Given the description of an element on the screen output the (x, y) to click on. 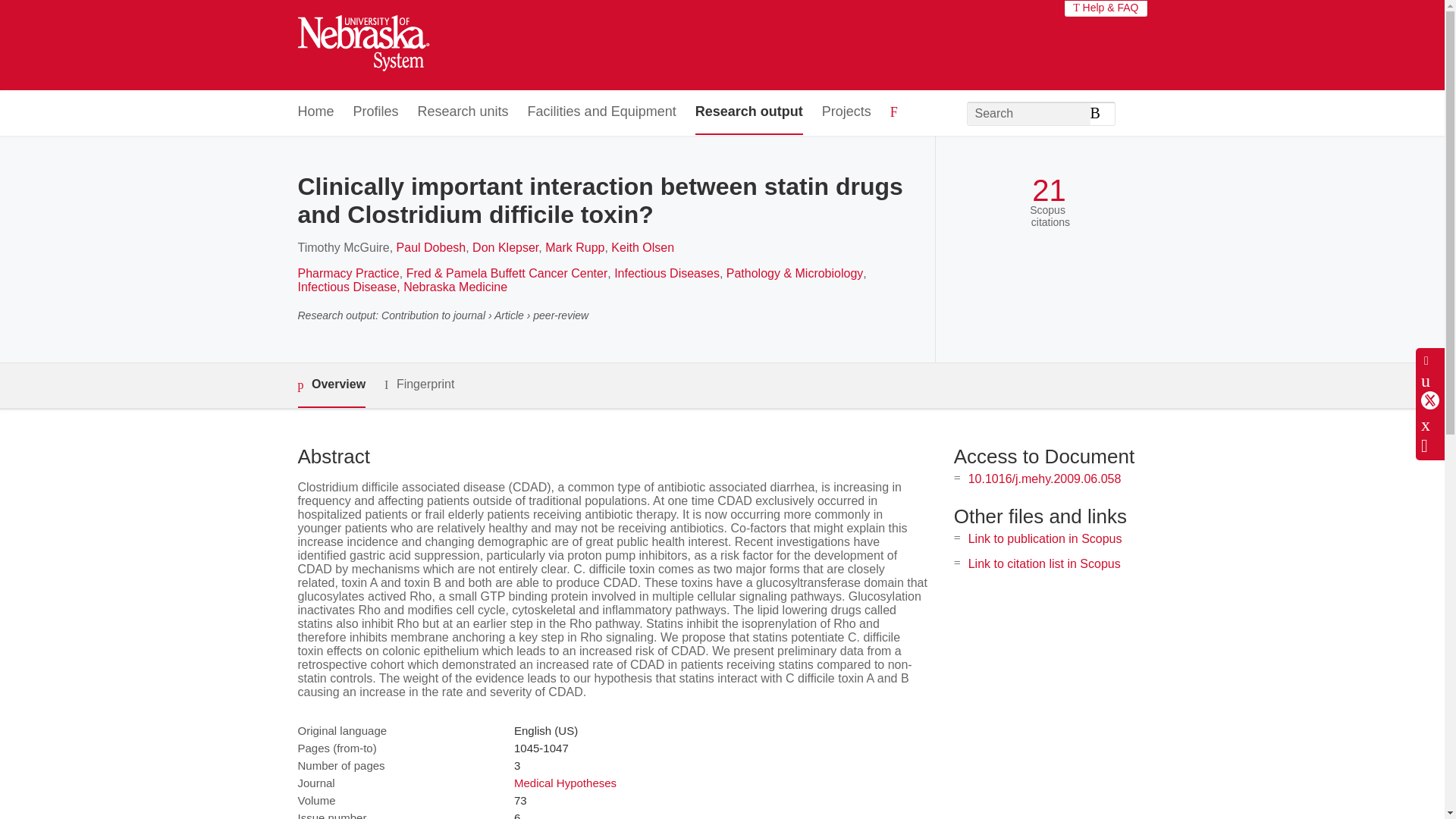
Infectious Disease, Nebraska Medicine (401, 286)
Infectious Diseases (666, 273)
Facilities and Equipment (602, 112)
Research output (749, 112)
Pharmacy Practice (347, 273)
Don Klepser (504, 246)
Fingerprint (419, 384)
Research Nebraska Home (363, 45)
Research units (462, 112)
